Given the description of an element on the screen output the (x, y) to click on. 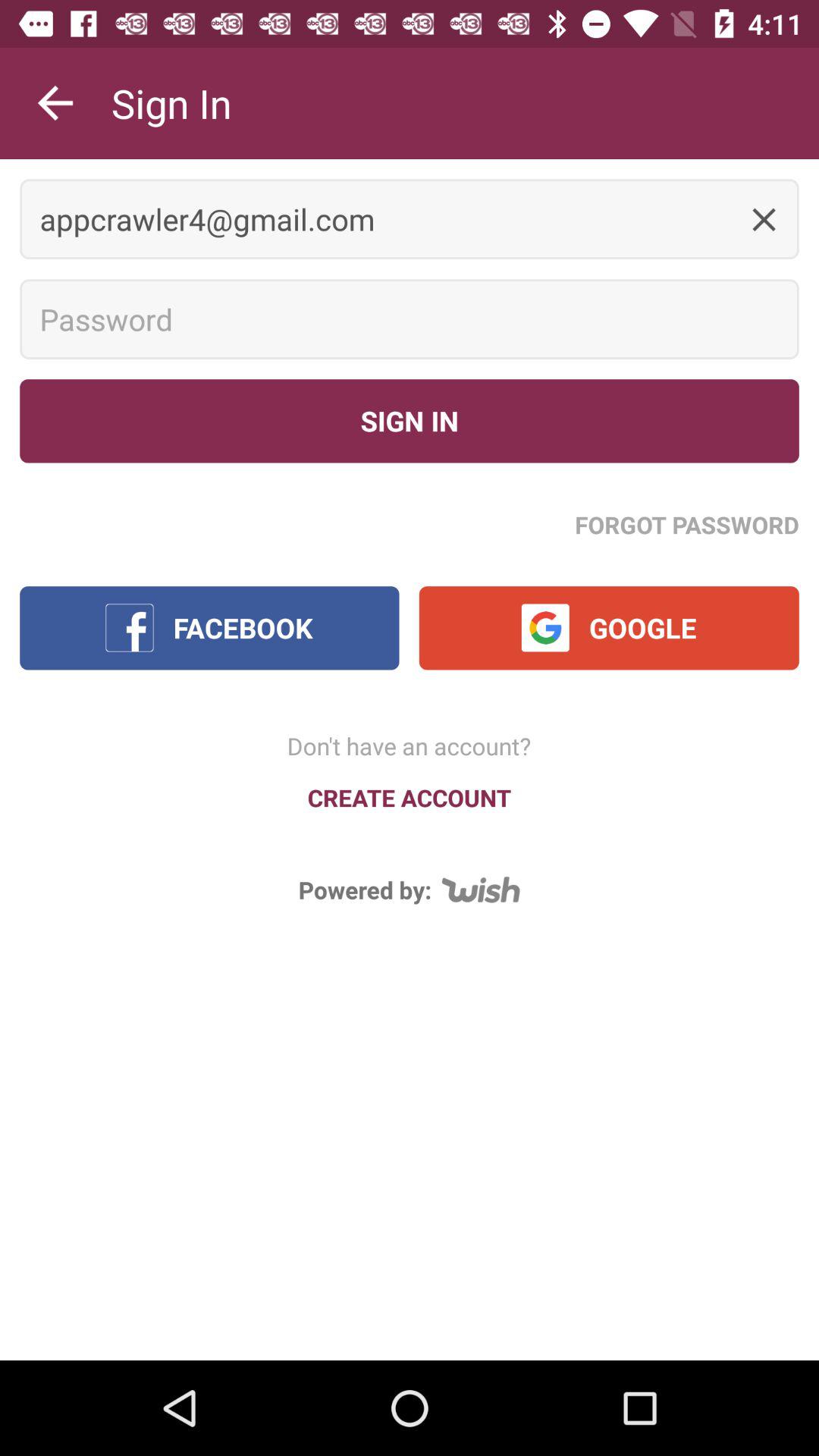
flip until the create account (409, 797)
